Given the description of an element on the screen output the (x, y) to click on. 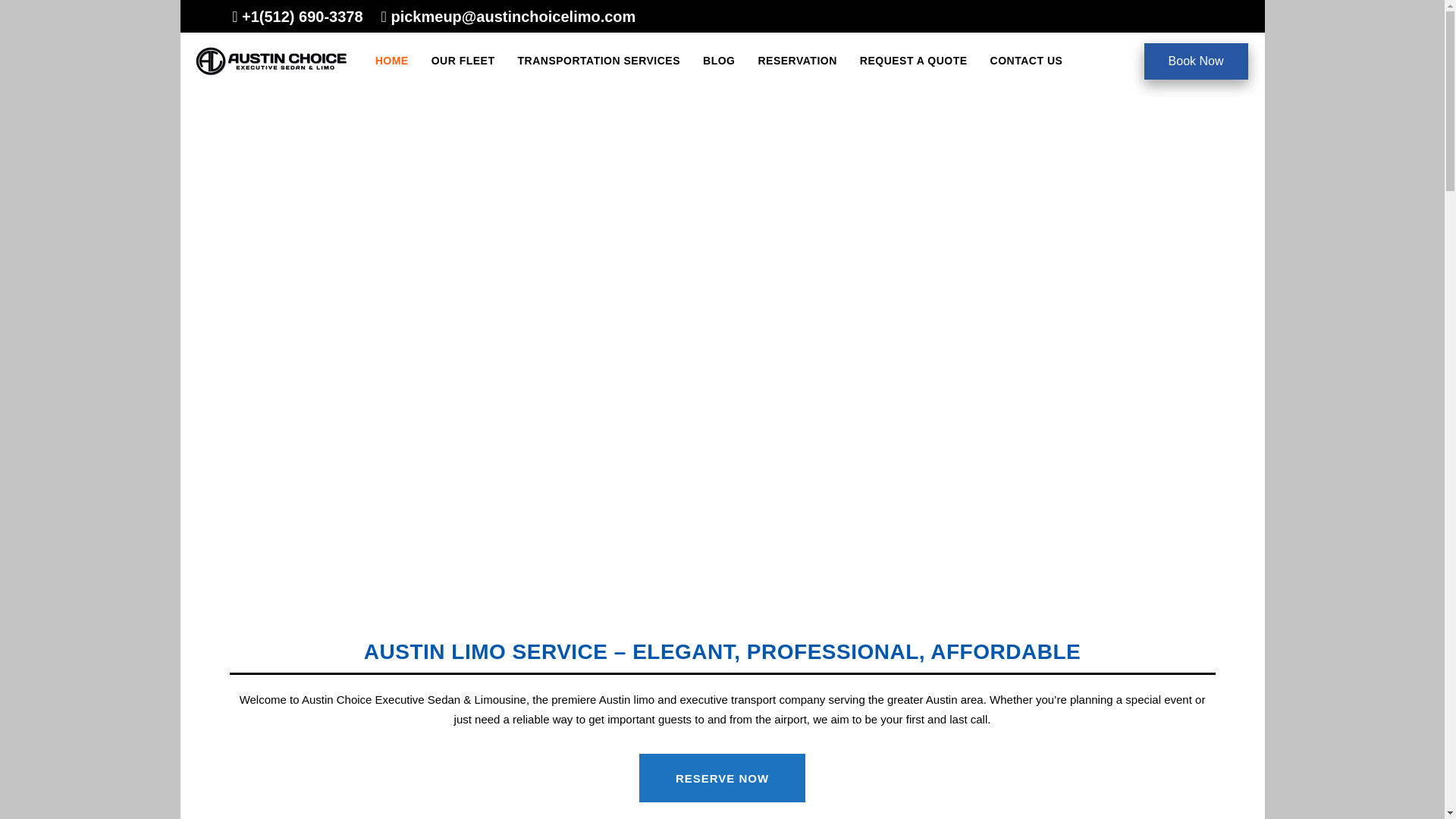
RESERVATION (796, 60)
Book Now (1195, 60)
CONTACT US (1026, 60)
TRANSPORTATION SERVICES (599, 60)
RESERVE NOW (722, 778)
HOME (392, 60)
BLOG (718, 60)
REQUEST A QUOTE (913, 60)
OUR FLEET (463, 60)
Book Now (1195, 60)
